Given the description of an element on the screen output the (x, y) to click on. 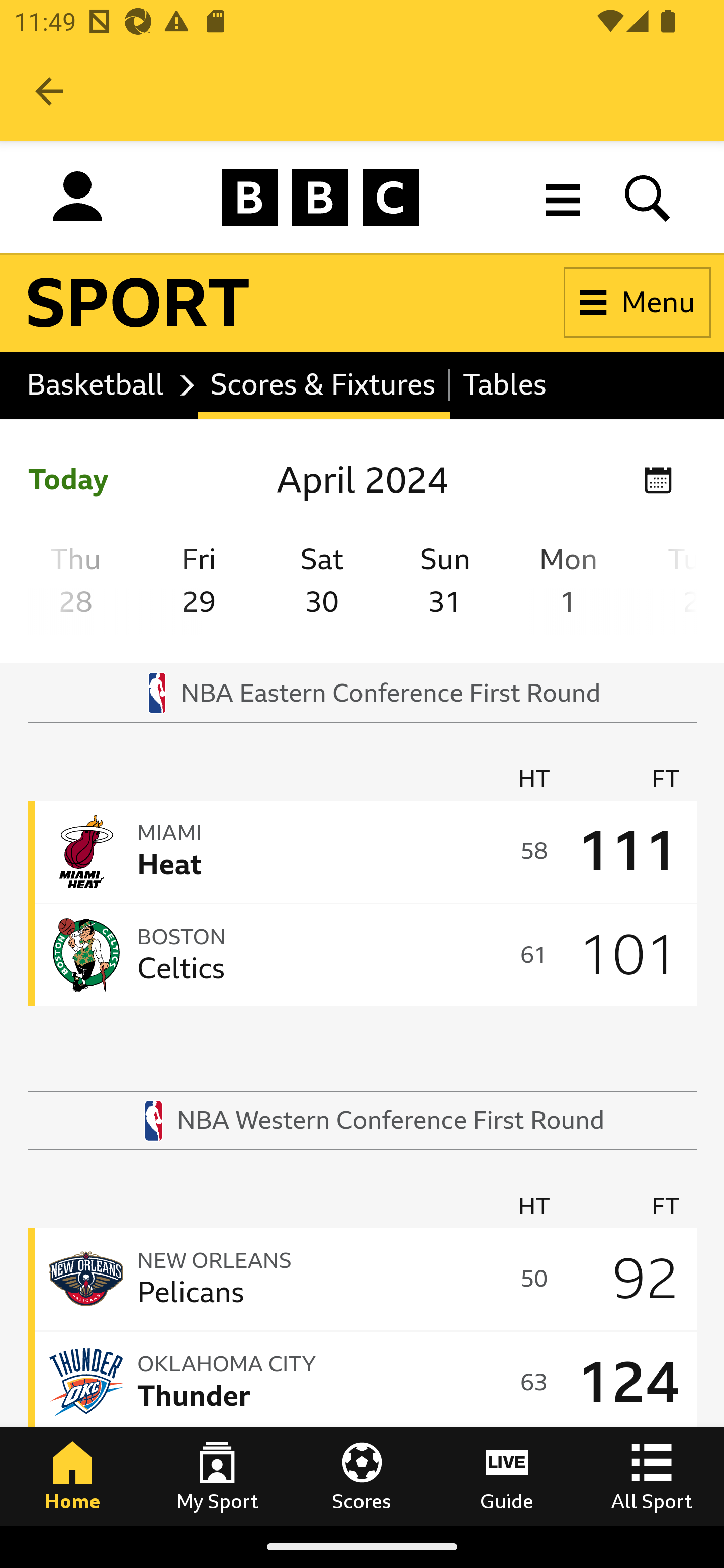
Navigate up (49, 91)
Your account (77, 200)
BBC Homepage (320, 197)
More menu (563, 197)
Search BBC (648, 197)
BBC Sport (138, 303)
Menu (637, 303)
Basketball (105, 384)
Scores & Fixtures (323, 384)
Tables (503, 384)
Today (68, 480)
Thu 28th March 2024 Thu 28 (75, 583)
Fri 29th March 2024 Fri 29 (198, 583)
Sat 30th March 2024 Sat 30 (322, 583)
Sun 31st March 2024 Sun 31 (445, 583)
Mon 1st April 2024 Mon 1 (568, 583)
My Sport (216, 1475)
Scores (361, 1475)
Guide (506, 1475)
All Sport (651, 1475)
